Given the description of an element on the screen output the (x, y) to click on. 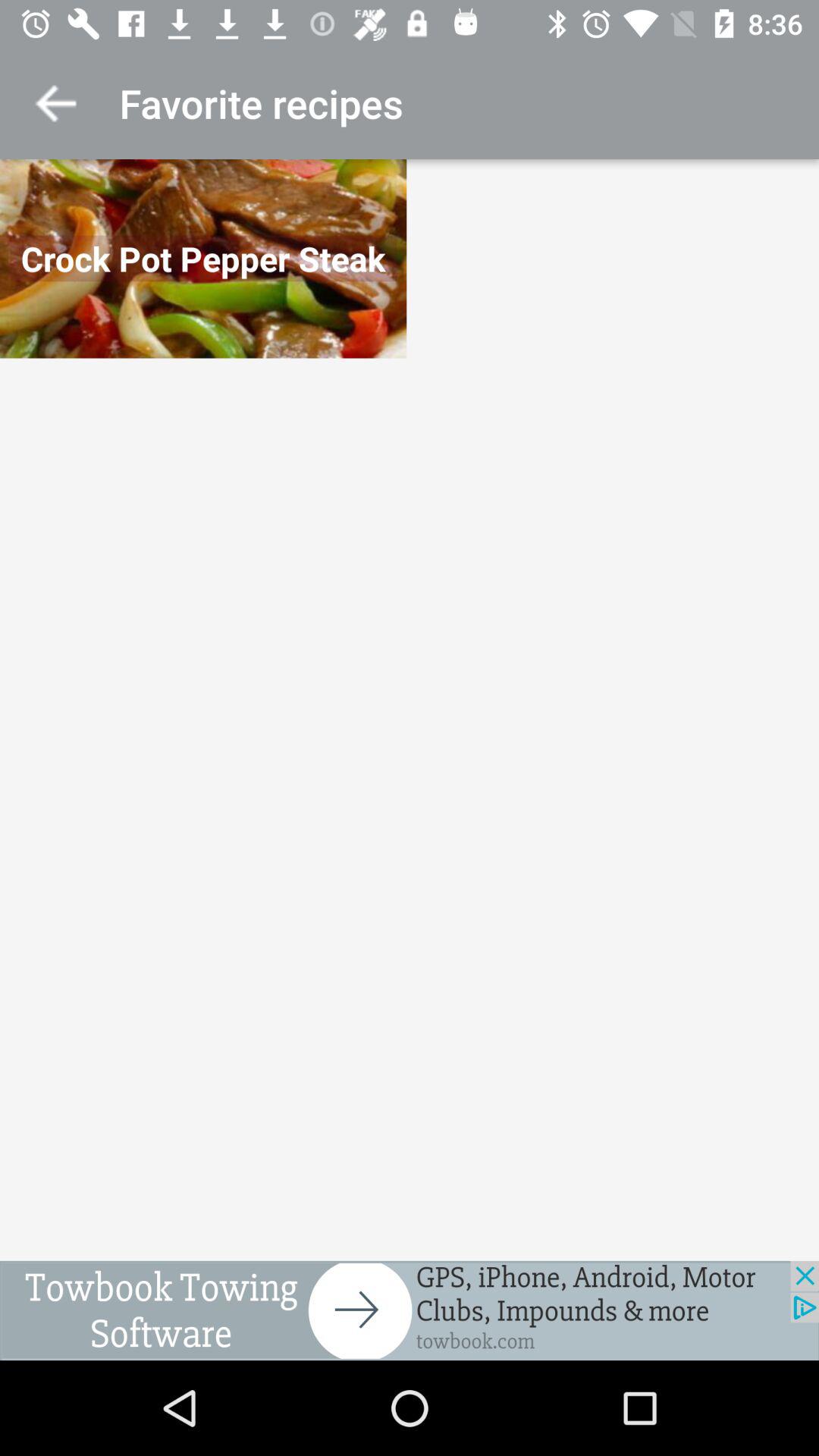
open advertisement (409, 1310)
